Given the description of an element on the screen output the (x, y) to click on. 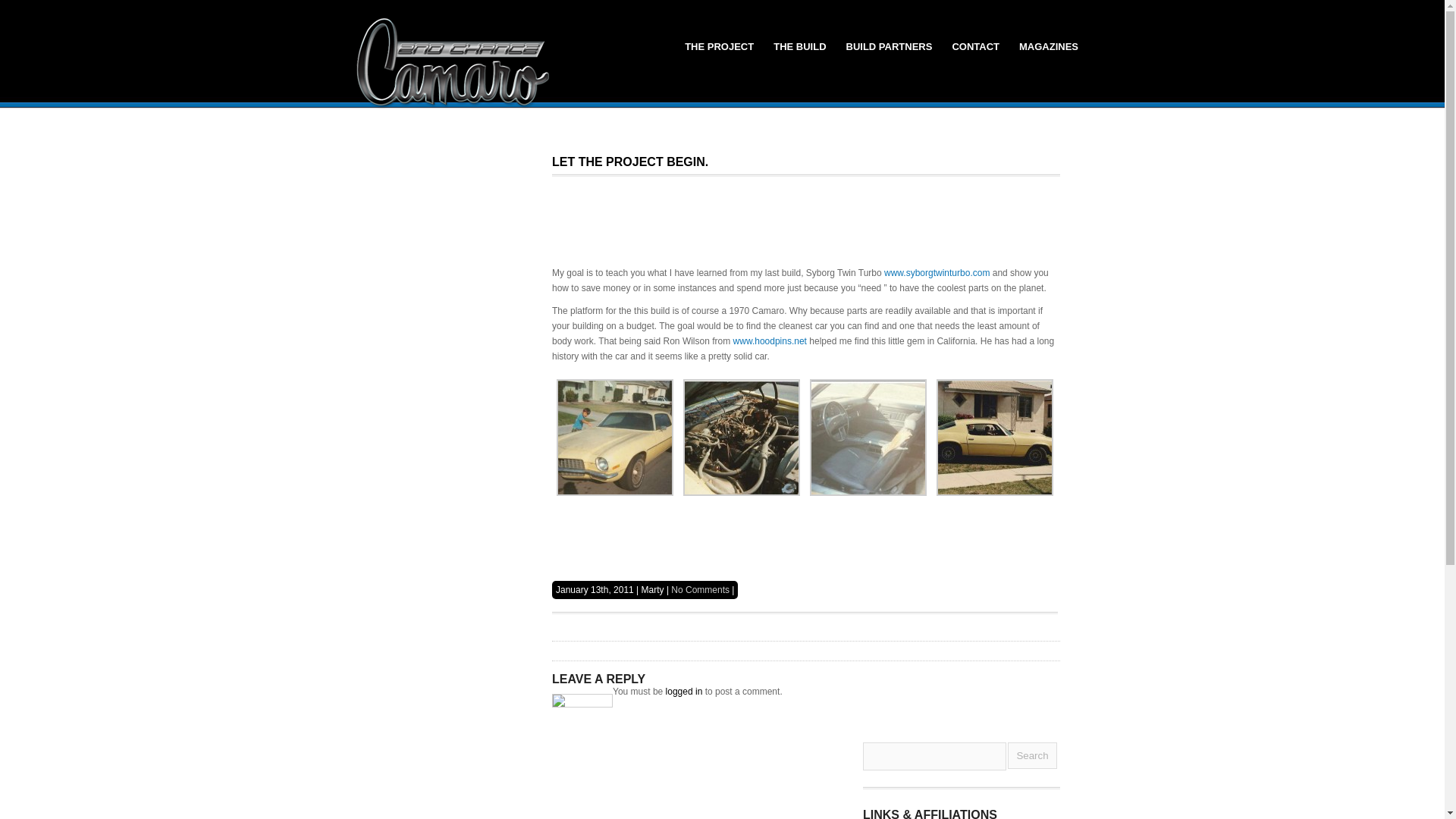
THE BUILD (798, 46)
Search (1032, 755)
LET THE PROJECT BEGIN. (629, 161)
www.hoodpins.net (769, 340)
MAGAZINES (1048, 46)
THE PROJECT (718, 46)
CONTACT (975, 46)
Advertisement (804, 232)
www.syborgtwinturbo.com (936, 272)
Search (1032, 755)
BUILD PARTNERS (888, 46)
No Comments (700, 589)
logged in (684, 691)
